Given the description of an element on the screen output the (x, y) to click on. 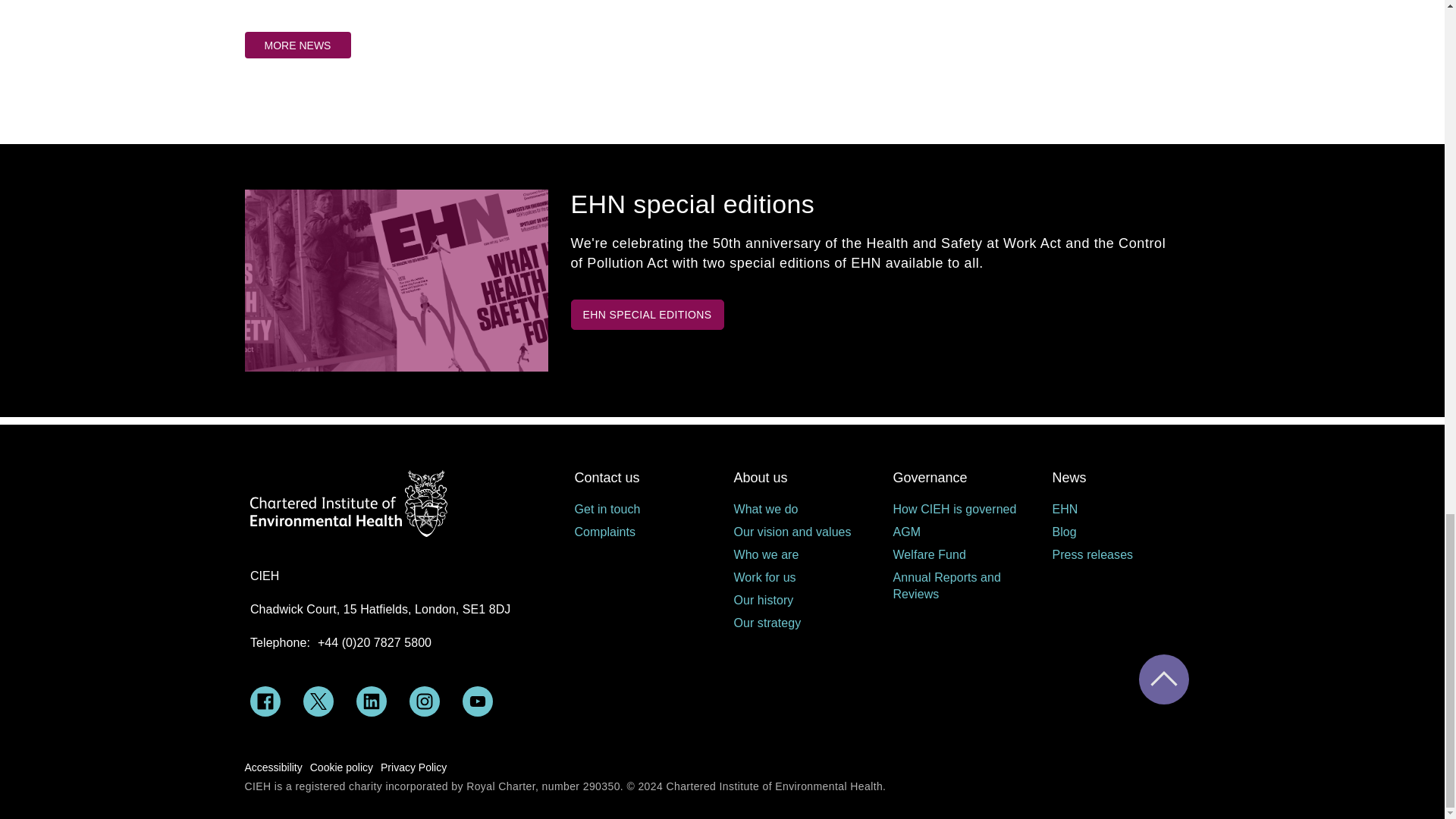
Get in touch (641, 509)
Complaints (641, 532)
LinkedIn (371, 701)
X (317, 701)
Instagram (424, 701)
YouTube (478, 701)
Facebook (265, 701)
What we do (801, 509)
